Given the description of an element on the screen output the (x, y) to click on. 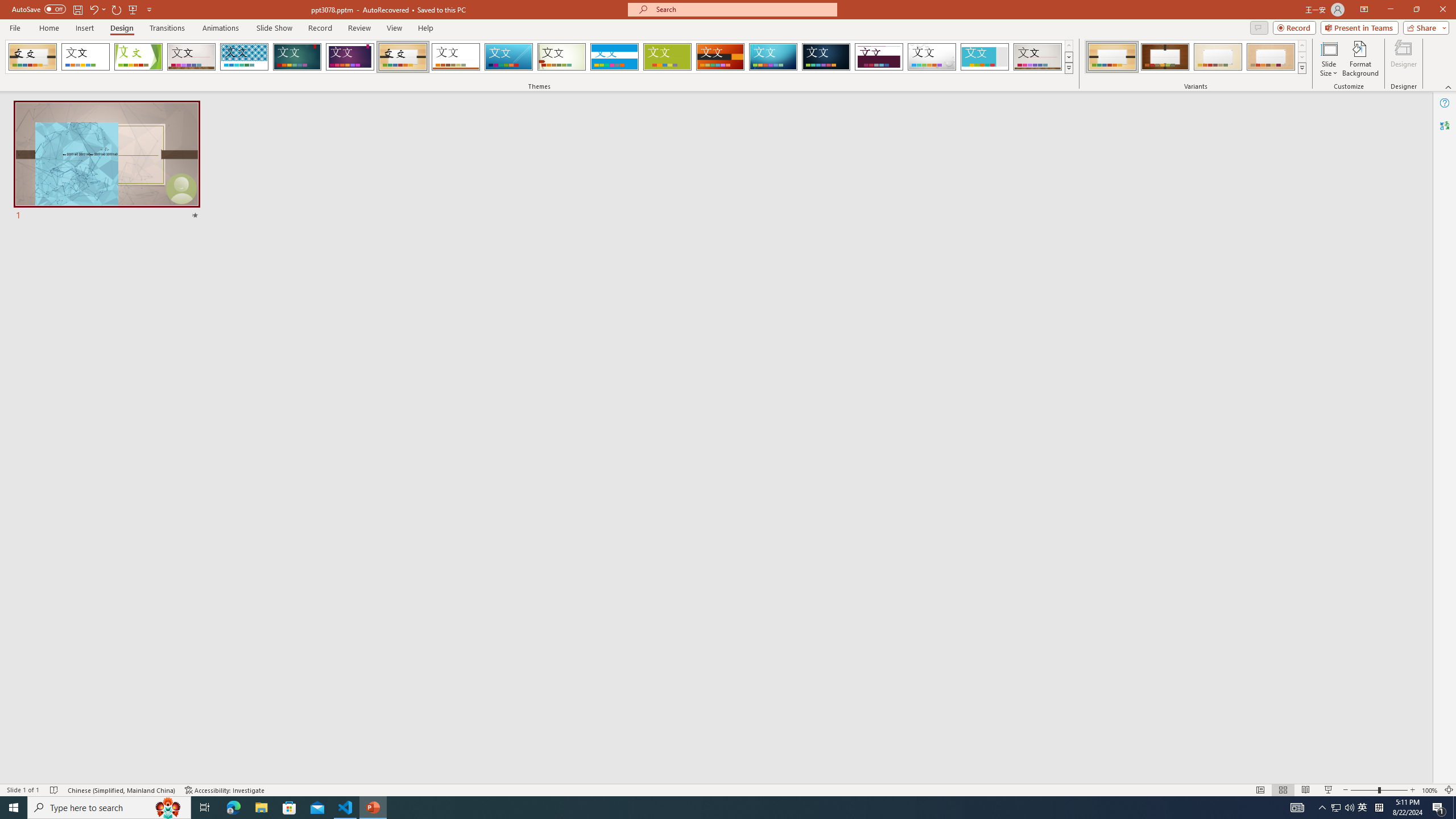
Wisp (561, 56)
Office Theme (85, 56)
AutomationID: SlideThemesGallery (539, 56)
Ion (296, 56)
